Given the description of an element on the screen output the (x, y) to click on. 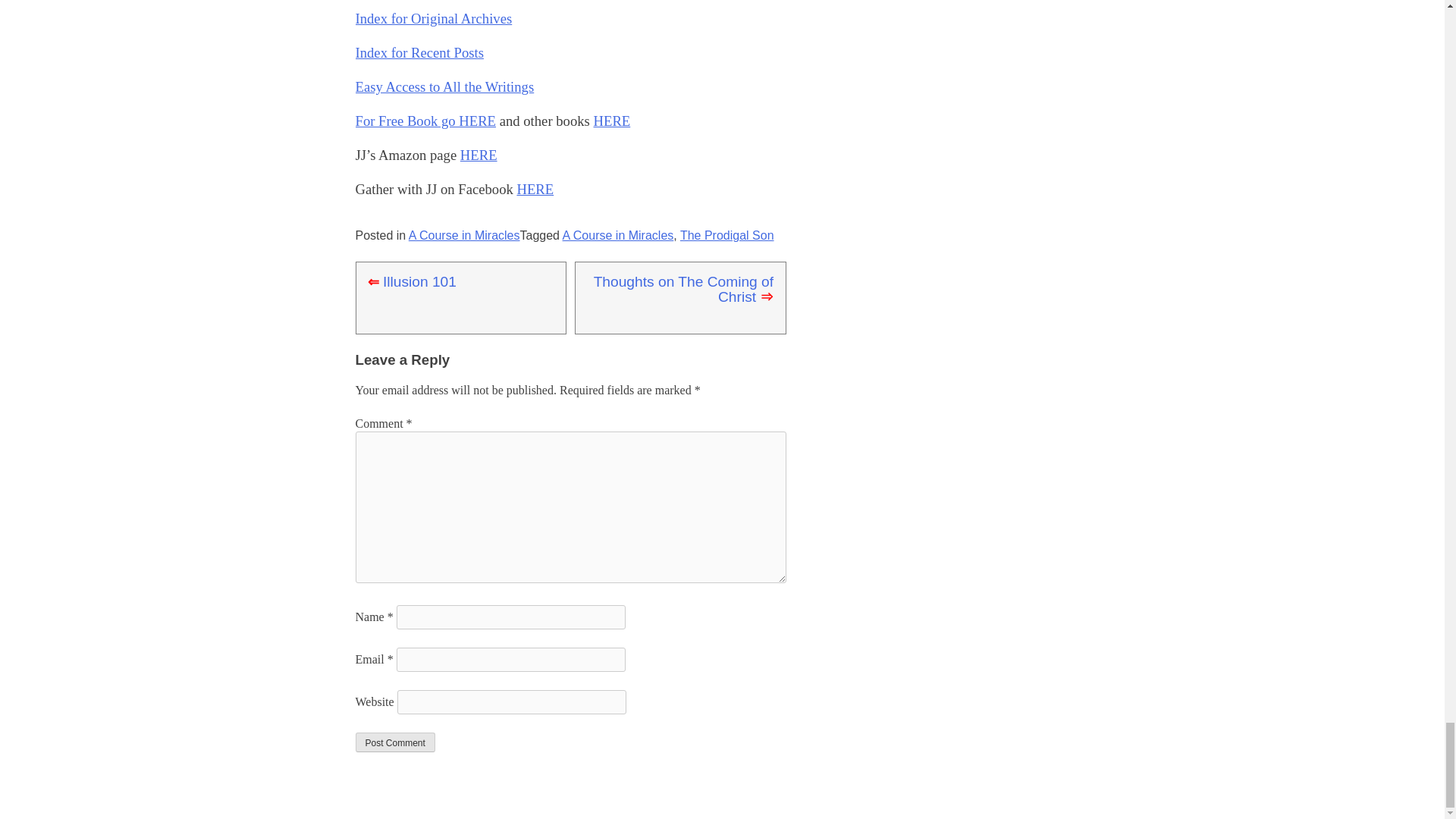
Post Comment (394, 742)
